Given the description of an element on the screen output the (x, y) to click on. 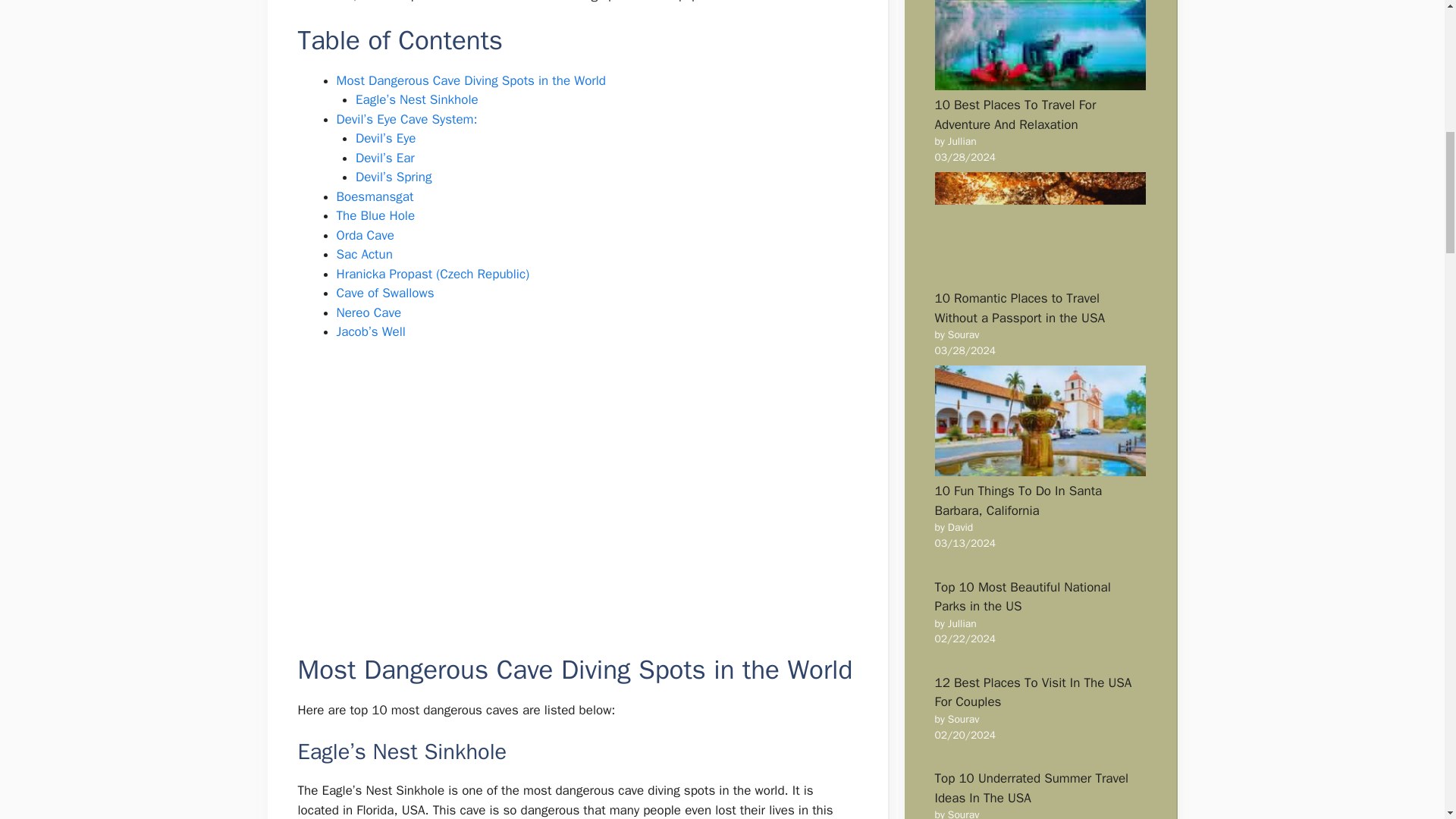
Nereo Cave (368, 312)
Scroll back to top (1406, 720)
The Blue Hole (375, 215)
Sac Actun (364, 254)
Orda Cave (365, 235)
Most Dangerous Cave Diving Spots in the World (470, 80)
Cave of Swallows (384, 293)
Boesmansgat (374, 196)
